Given the description of an element on the screen output the (x, y) to click on. 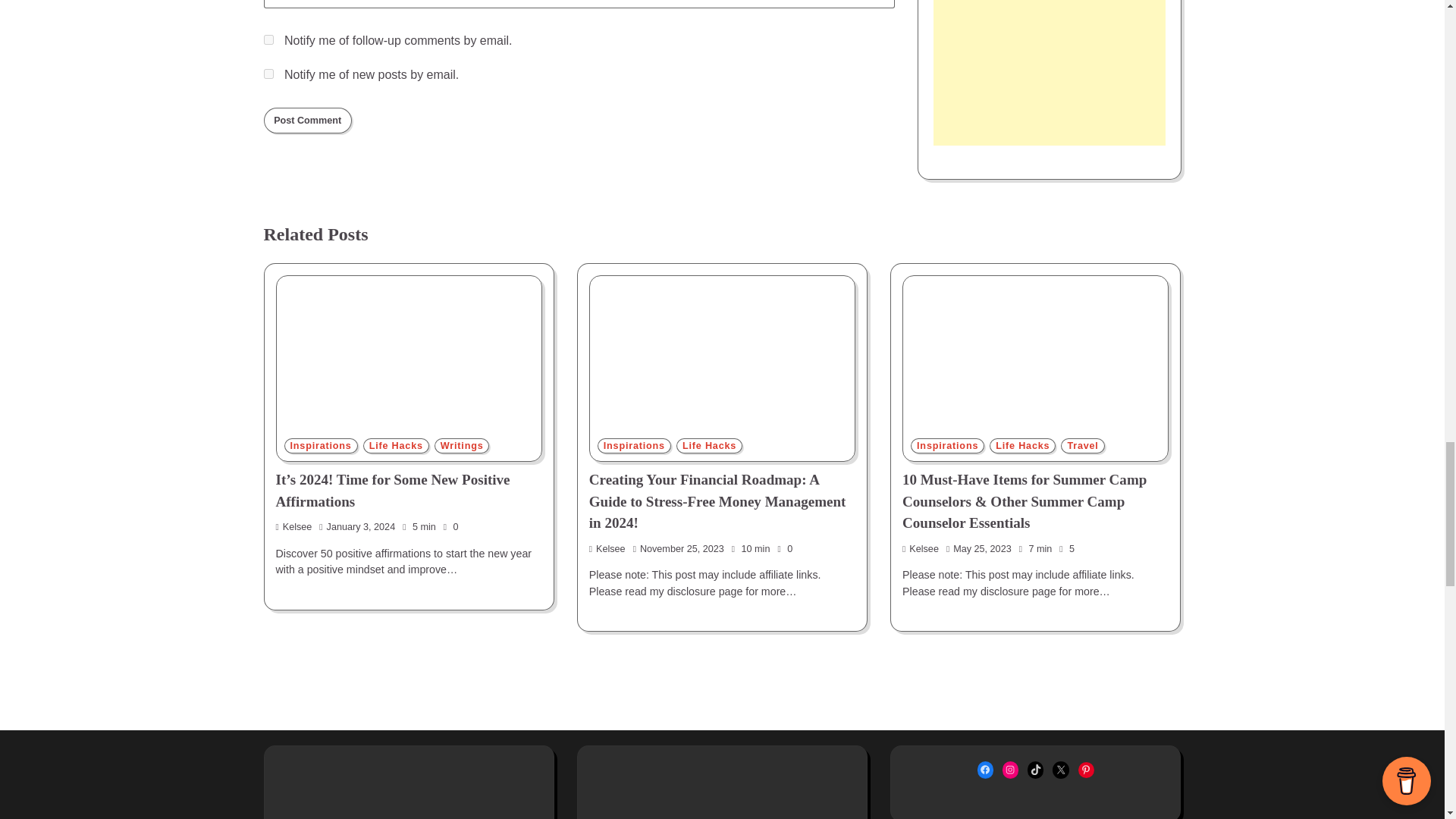
Post Comment (307, 120)
subscribe (268, 73)
subscribe (268, 40)
Life Hacks (395, 446)
Inspirations (319, 446)
Post Comment (307, 120)
Kelsee (294, 526)
Writings (461, 446)
Inspirations (633, 446)
